Given the description of an element on the screen output the (x, y) to click on. 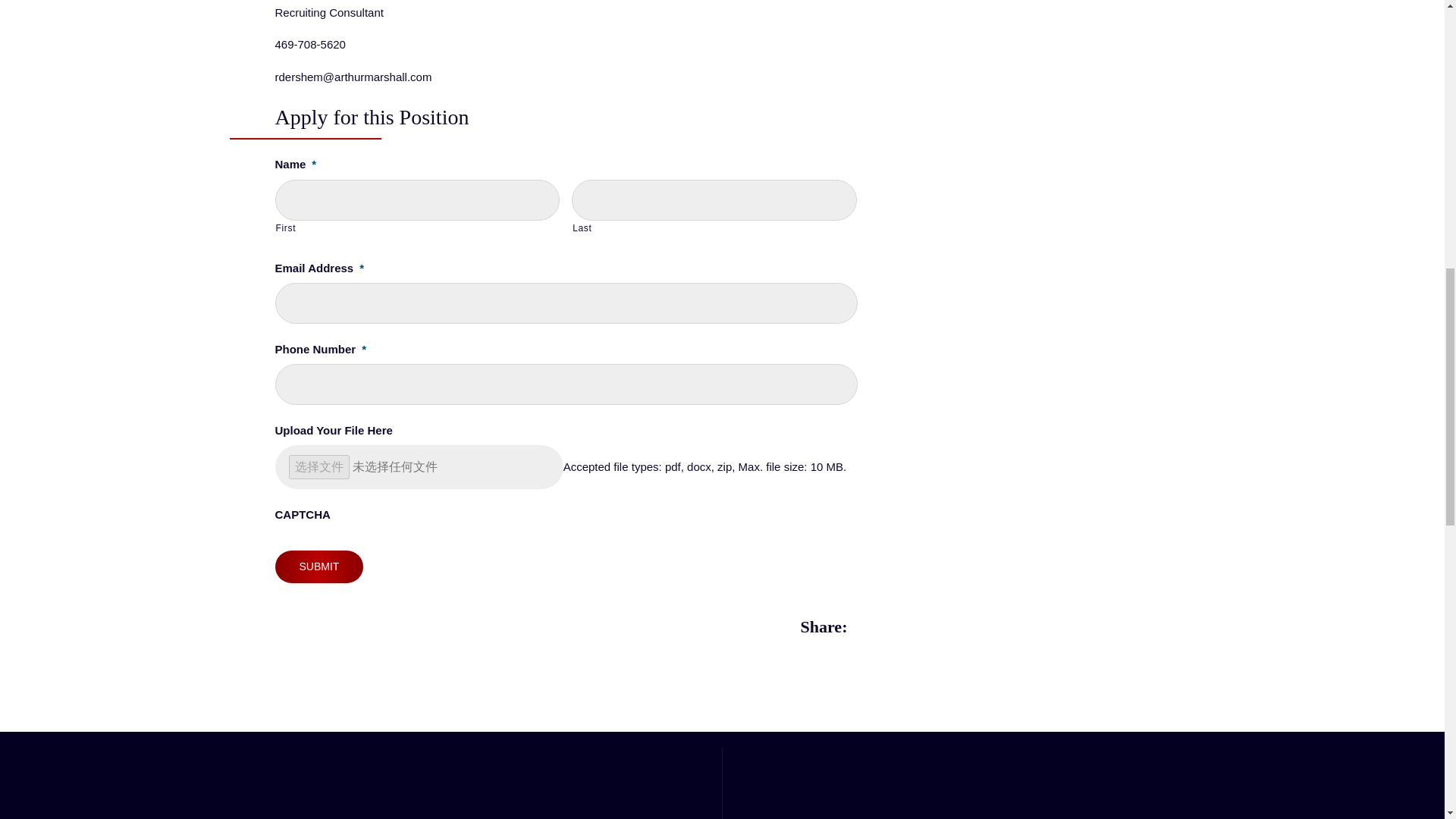
Submit (318, 566)
dental-icon- (953, 798)
hospital-sign (490, 798)
